Given the description of an element on the screen output the (x, y) to click on. 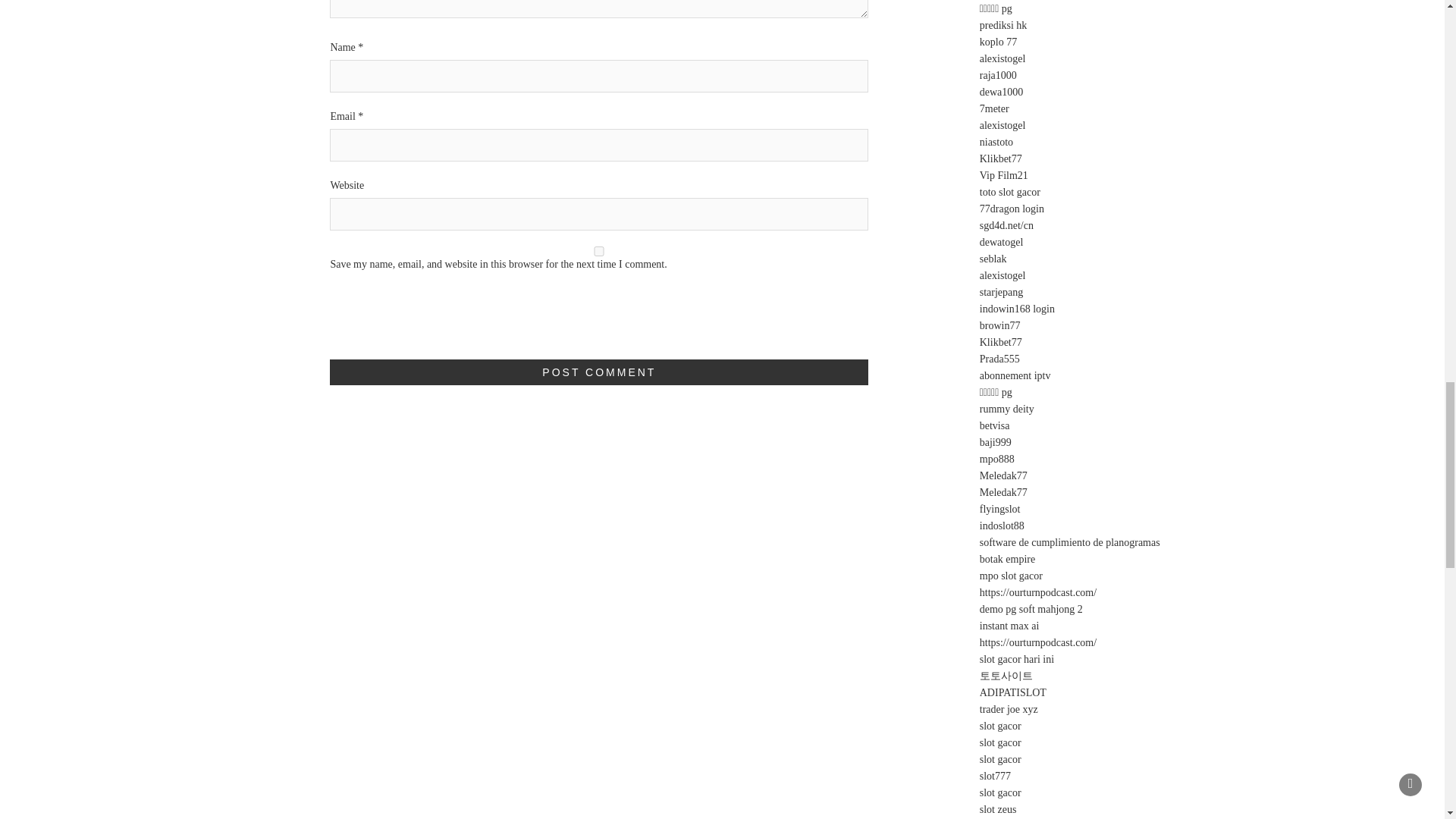
Post Comment (598, 371)
yes (598, 251)
reCAPTCHA (445, 324)
Post Comment (598, 371)
